Given the description of an element on the screen output the (x, y) to click on. 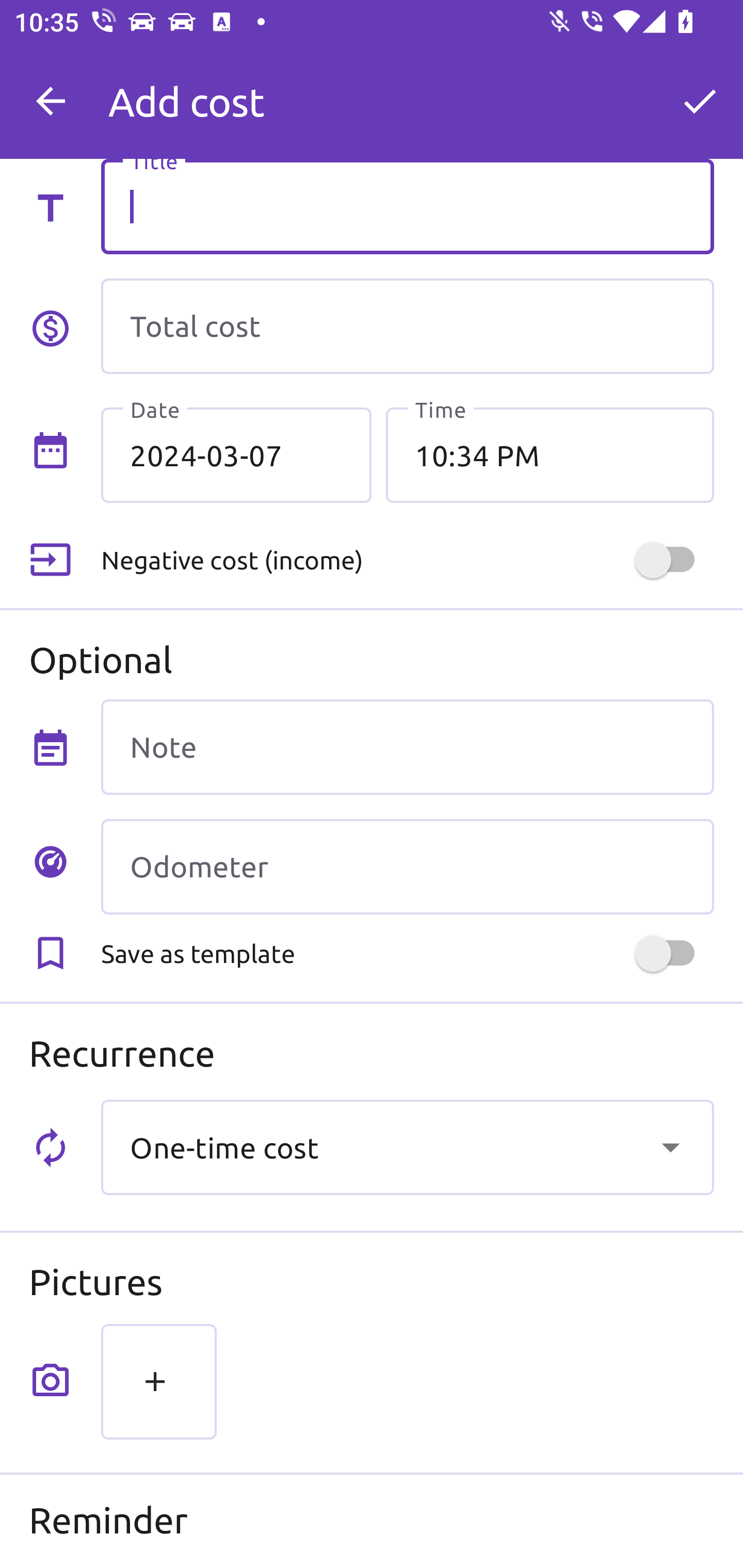
A No name 0 km (407, 92)
Navigate up (50, 101)
OK (699, 101)
Title (407, 206)
Total cost  (407, 326)
2024-03-07 (236, 455)
10:34 PM (549, 455)
Negative cost (income) (407, 559)
Note (407, 746)
Odometer (407, 866)
Save as template (407, 953)
One-time cost (407, 1146)
Show dropdown menu (670, 1146)
